Given the description of an element on the screen output the (x, y) to click on. 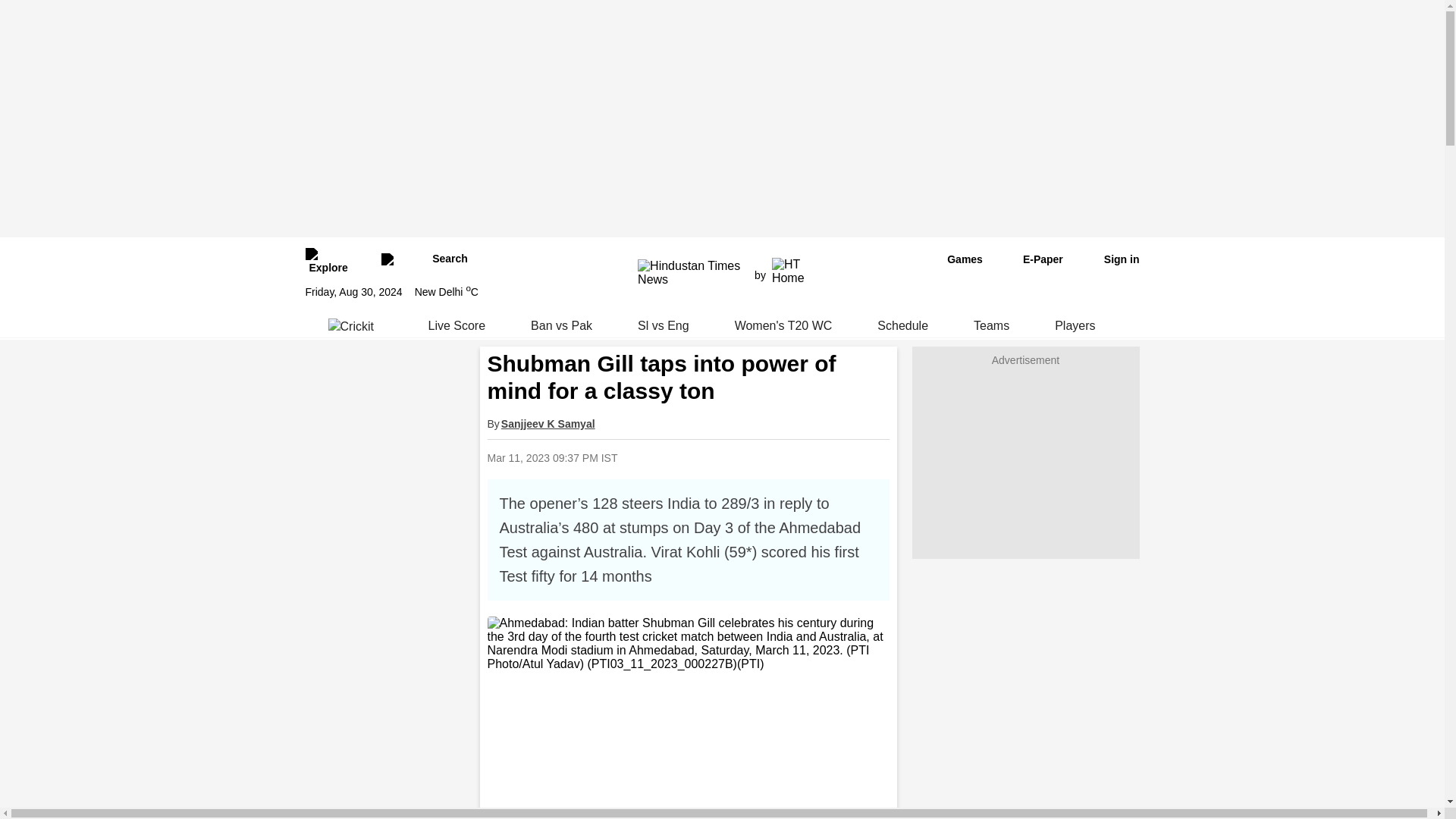
ICC Ranking (1175, 325)
Games (954, 258)
Teams (991, 325)
Crickit (354, 325)
game (954, 258)
Players (1075, 325)
Ban vs Pak (561, 325)
Share on Facebook (710, 457)
HT Home (788, 271)
Share on Linkdin (788, 457)
